Given the description of an element on the screen output the (x, y) to click on. 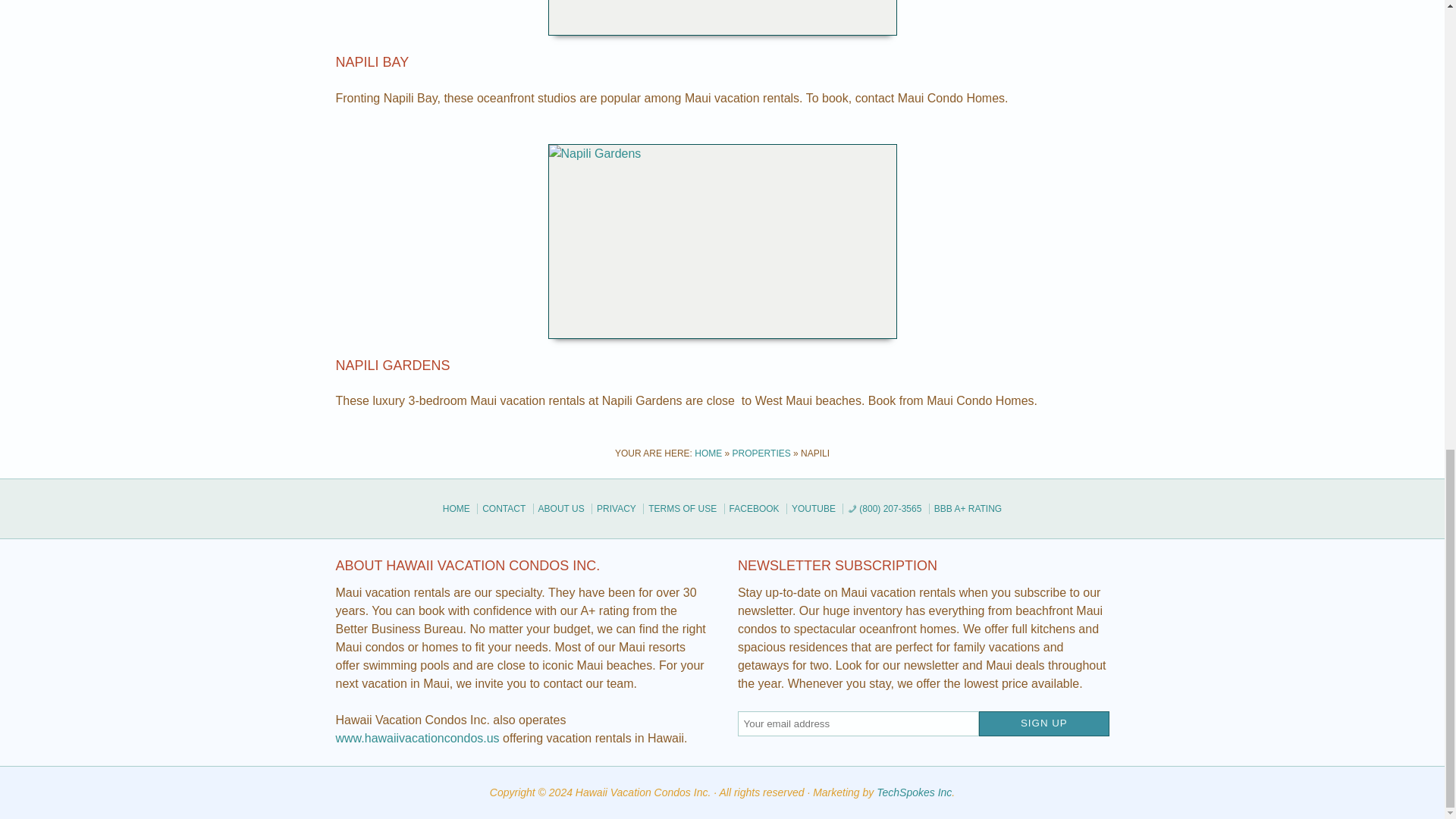
Sign up (1043, 723)
Napili Gardens (391, 365)
Napili Bay (371, 61)
Unique web and marketing solutions for your vacation rentals (914, 792)
Napili Bay (721, 18)
